Given the description of an element on the screen output the (x, y) to click on. 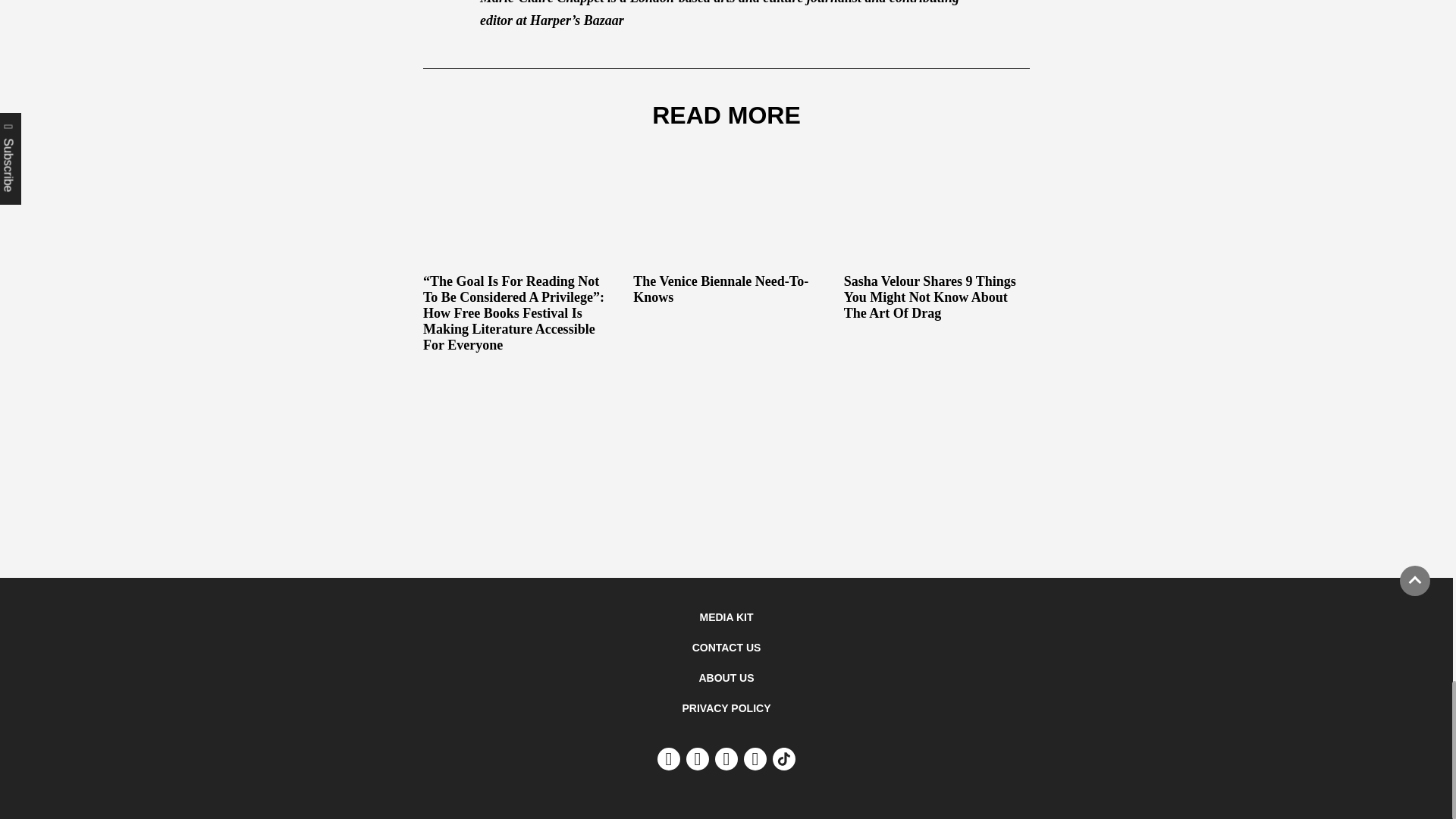
Twitter (726, 758)
Instagram (697, 758)
Youtube (668, 758)
Facebook (755, 758)
